Given the description of an element on the screen output the (x, y) to click on. 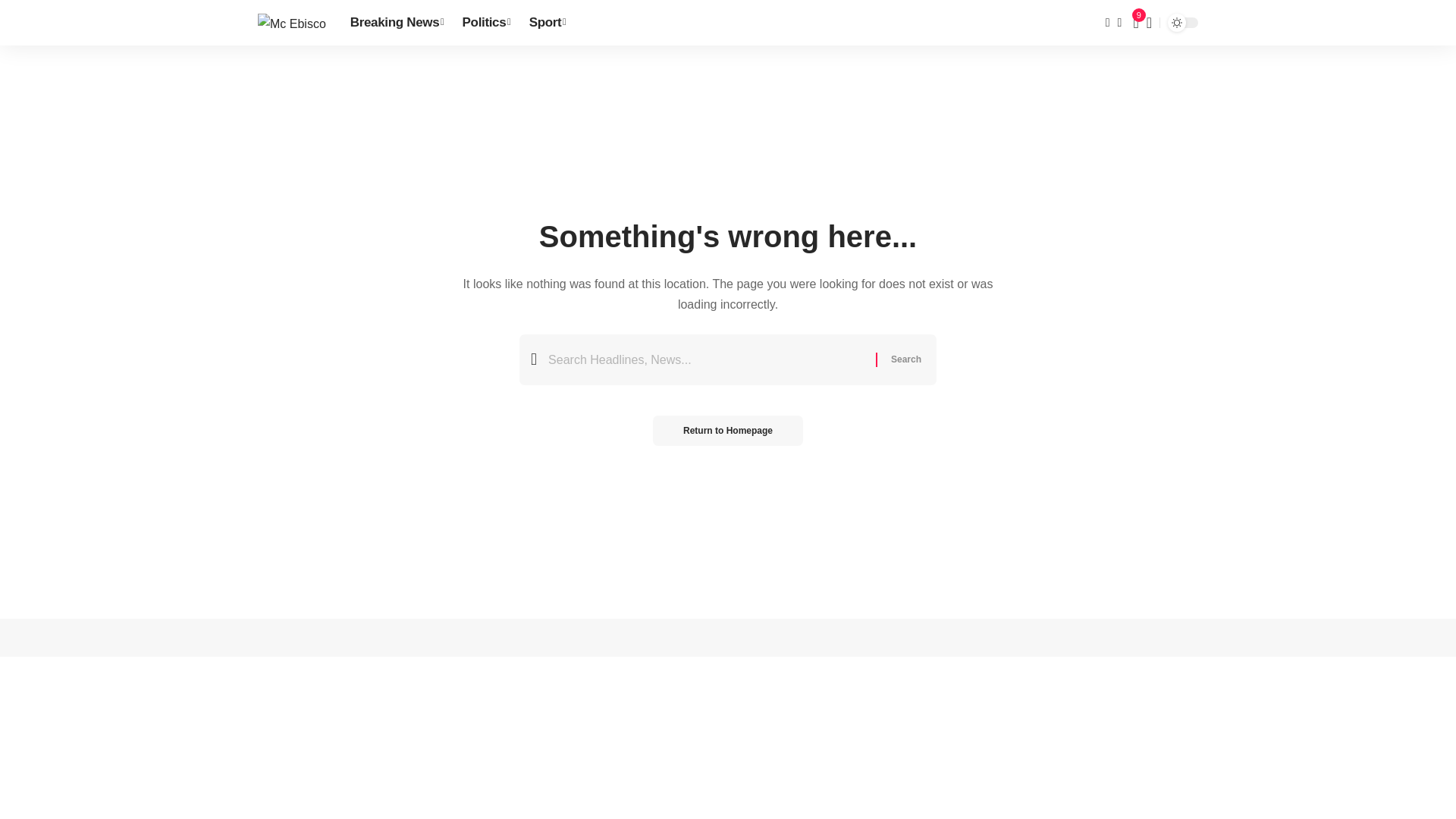
Sport (547, 22)
Politics (485, 22)
Search (906, 359)
Breaking News (396, 22)
Mc Ebisco (291, 22)
